Given the description of an element on the screen output the (x, y) to click on. 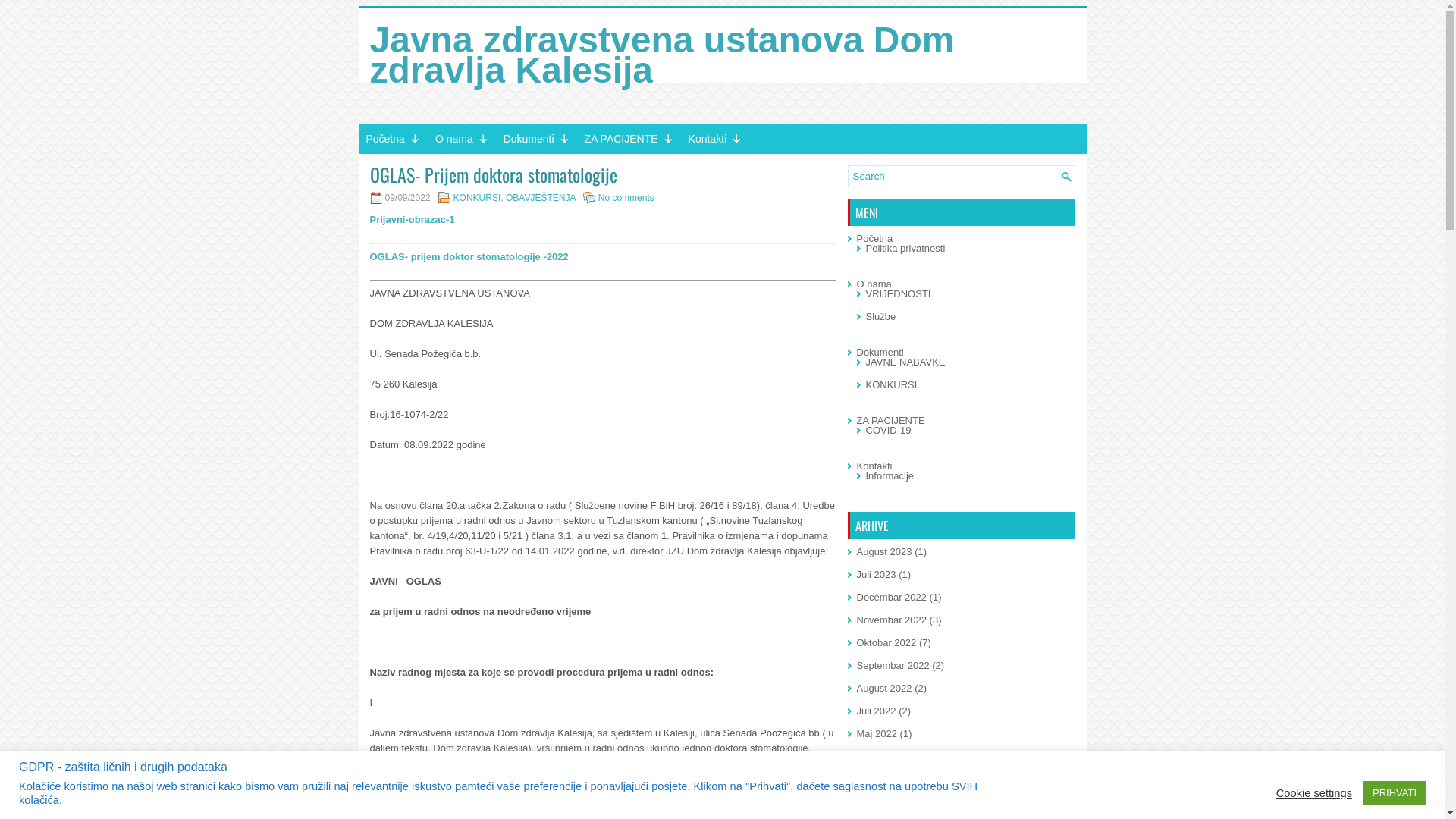
O nama Element type: text (461, 138)
August 2023 Element type: text (884, 551)
Juli 2023 Element type: text (876, 574)
Prijavni-obrazac-1 Element type: text (412, 219)
O nama Element type: text (873, 283)
Novembar 2022 Element type: text (891, 619)
PRIHVATI Element type: text (1394, 792)
OGLAS- prijem doktor stomatologije -2022 Element type: text (469, 255)
COVID-19 Element type: text (888, 430)
ZA PACIJENTE Element type: text (628, 138)
KONKURSI Element type: text (891, 384)
Dokumenti Element type: text (879, 351)
Maj 2022 Element type: text (876, 733)
August 2022 Element type: text (884, 687)
Juli 2022 Element type: text (876, 710)
JAVNE NABAVKE Element type: text (905, 361)
Type and hit enter Element type: hover (961, 176)
Septembar 2022 Element type: text (892, 665)
Oktobar 2022 Element type: text (886, 642)
VRIJEDNOSTI Element type: text (898, 293)
Javna zdravstvena ustanova Dom zdravlja Kalesija Element type: text (662, 54)
Politika privatnosti Element type: text (905, 248)
Januar 2022 Element type: text (883, 801)
No comments Element type: text (626, 197)
Dokumenti Element type: text (536, 138)
Mart 2022 Element type: text (878, 778)
Kontakti Element type: text (874, 465)
KONKURSI Element type: text (477, 197)
ZA PACIJENTE Element type: text (890, 420)
Kontakti Element type: text (714, 138)
April 2022 Element type: text (878, 756)
Cookie settings Element type: text (1314, 792)
Informacije Element type: text (890, 475)
Decembar 2022 Element type: text (891, 596)
